Given the description of an element on the screen output the (x, y) to click on. 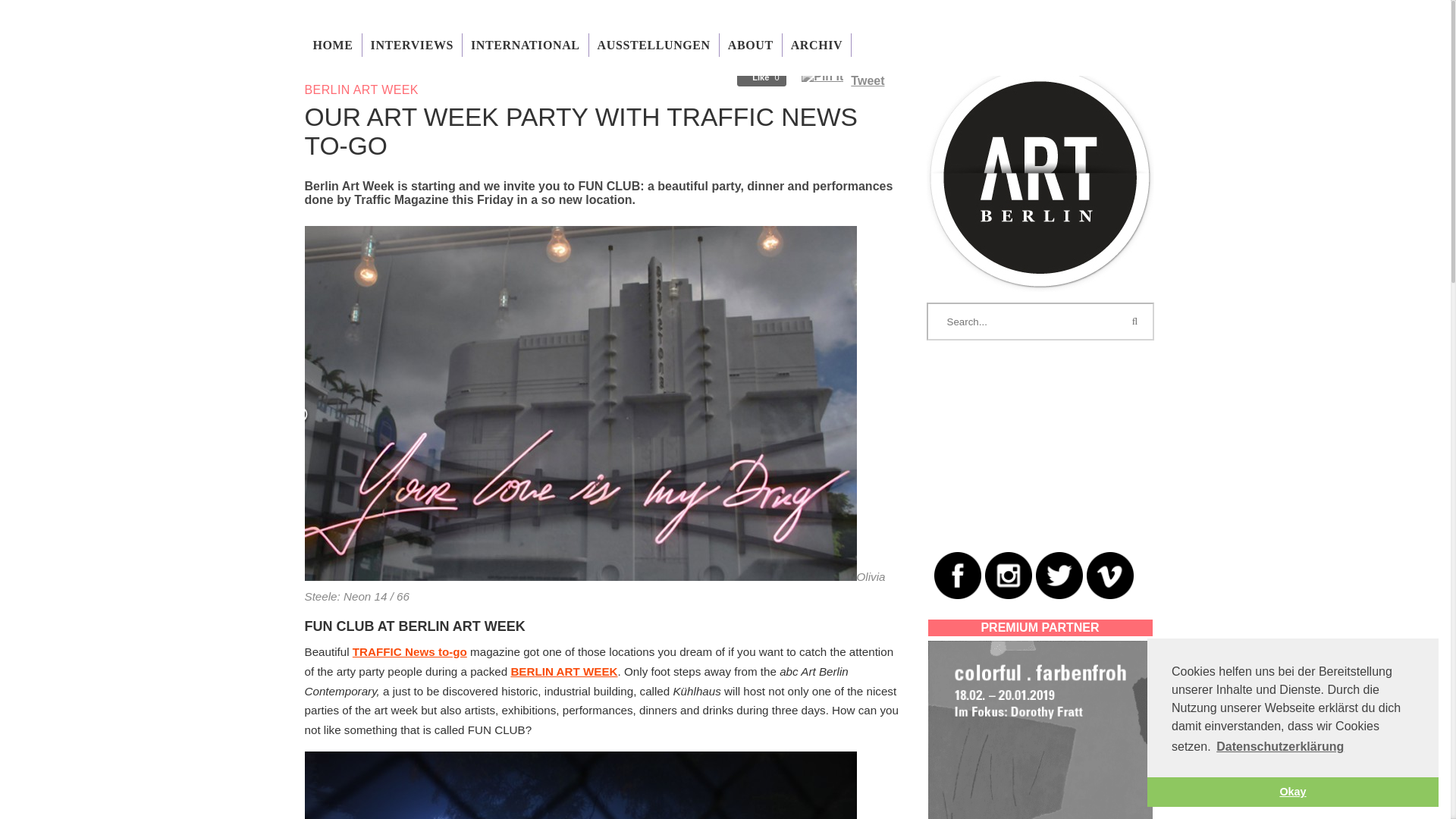
AUSSTELLUNGEN (654, 44)
Instagram (1007, 575)
INTERNATIONAL (525, 44)
ABOUT (750, 44)
Pin It (822, 76)
INTERVIEWS (411, 44)
Twitter (1059, 575)
Pin It (822, 75)
HOME (332, 44)
Traffic news to go (409, 651)
Like (761, 77)
Facebook (957, 575)
ARCHIV (817, 44)
Berlin Art Week (564, 671)
Okay (1292, 791)
